Given the description of an element on the screen output the (x, y) to click on. 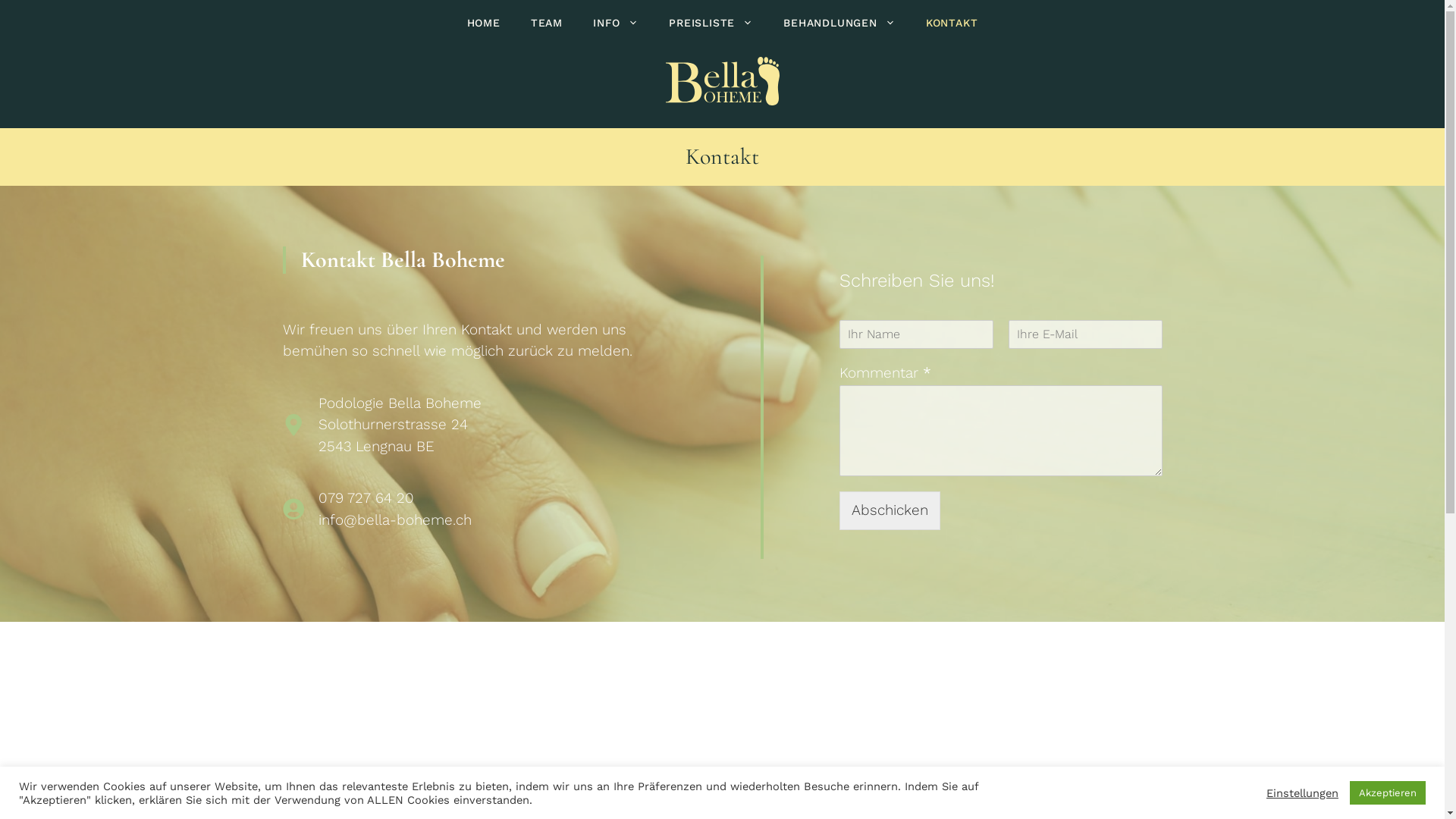
Einstellungen Element type: text (1302, 792)
KONTAKT Element type: text (951, 22)
Akzeptieren Element type: text (1387, 792)
BEHANDLUNGEN Element type: text (839, 22)
INFO Element type: text (615, 22)
TEAM Element type: text (546, 22)
PREISLISTE Element type: text (710, 22)
info@bella-boheme.ch Element type: text (394, 519)
HOME Element type: text (483, 22)
Abschicken Element type: text (888, 510)
079 727 64 20 Element type: text (366, 497)
